Given the description of an element on the screen output the (x, y) to click on. 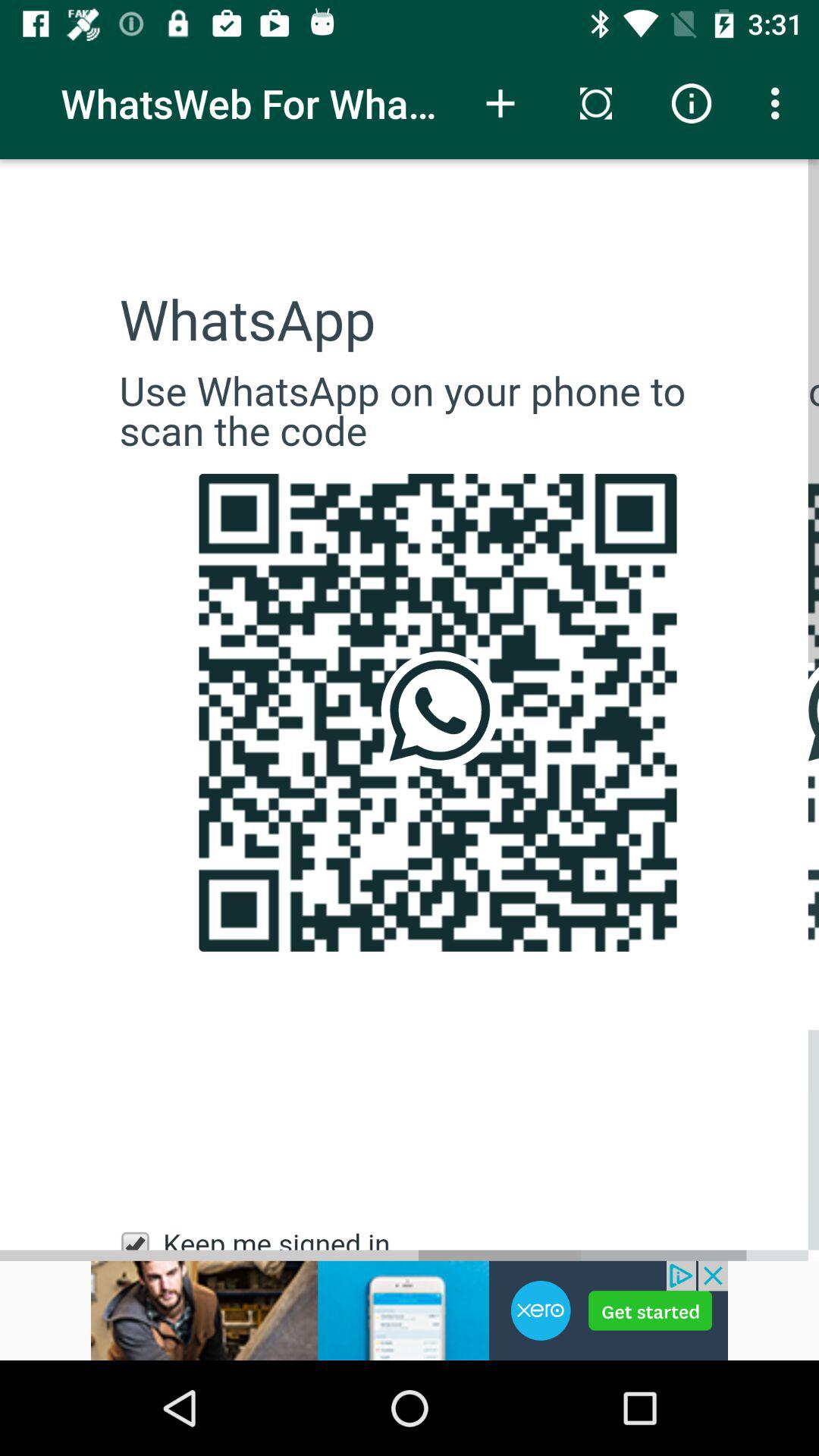
click on advertisement (409, 1310)
